Given the description of an element on the screen output the (x, y) to click on. 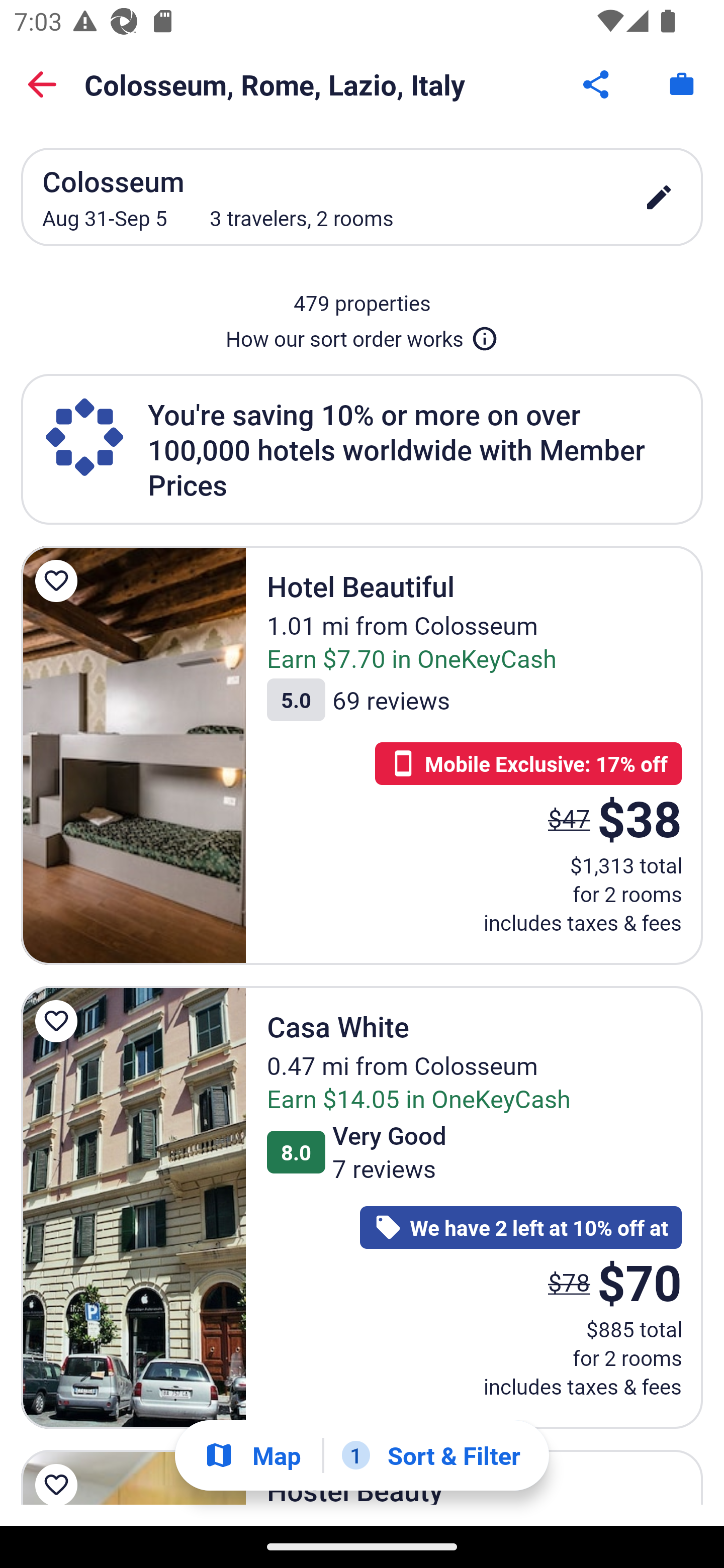
Back (42, 84)
Share Button (597, 84)
Trips. Button (681, 84)
Colosseum Aug 31-Sep 5 3 travelers, 2 rooms edit (361, 196)
How our sort order works (361, 334)
Save Hotel Beautiful to a trip (59, 580)
Hotel Beautiful (133, 754)
$47 The price was $47 (569, 818)
Save Casa White to a trip (59, 1020)
Casa White (133, 1207)
$78 The price was $78 (569, 1282)
1 Sort & Filter 1 Filter applied. Filters Button (430, 1455)
Show map Map Show map Button (252, 1455)
